Given the description of an element on the screen output the (x, y) to click on. 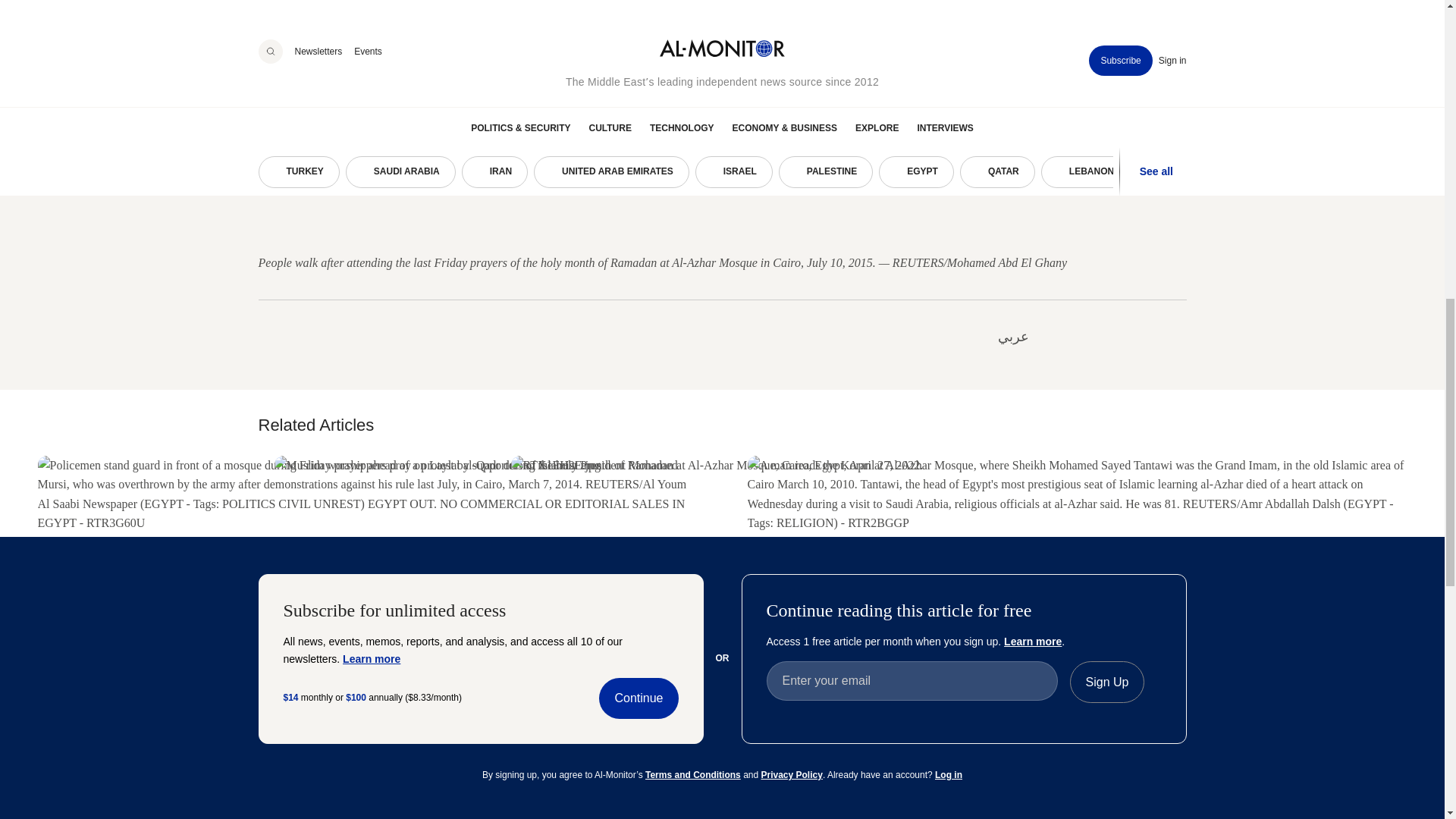
Related Articles (315, 425)
Related Articles (721, 425)
